Given the description of an element on the screen output the (x, y) to click on. 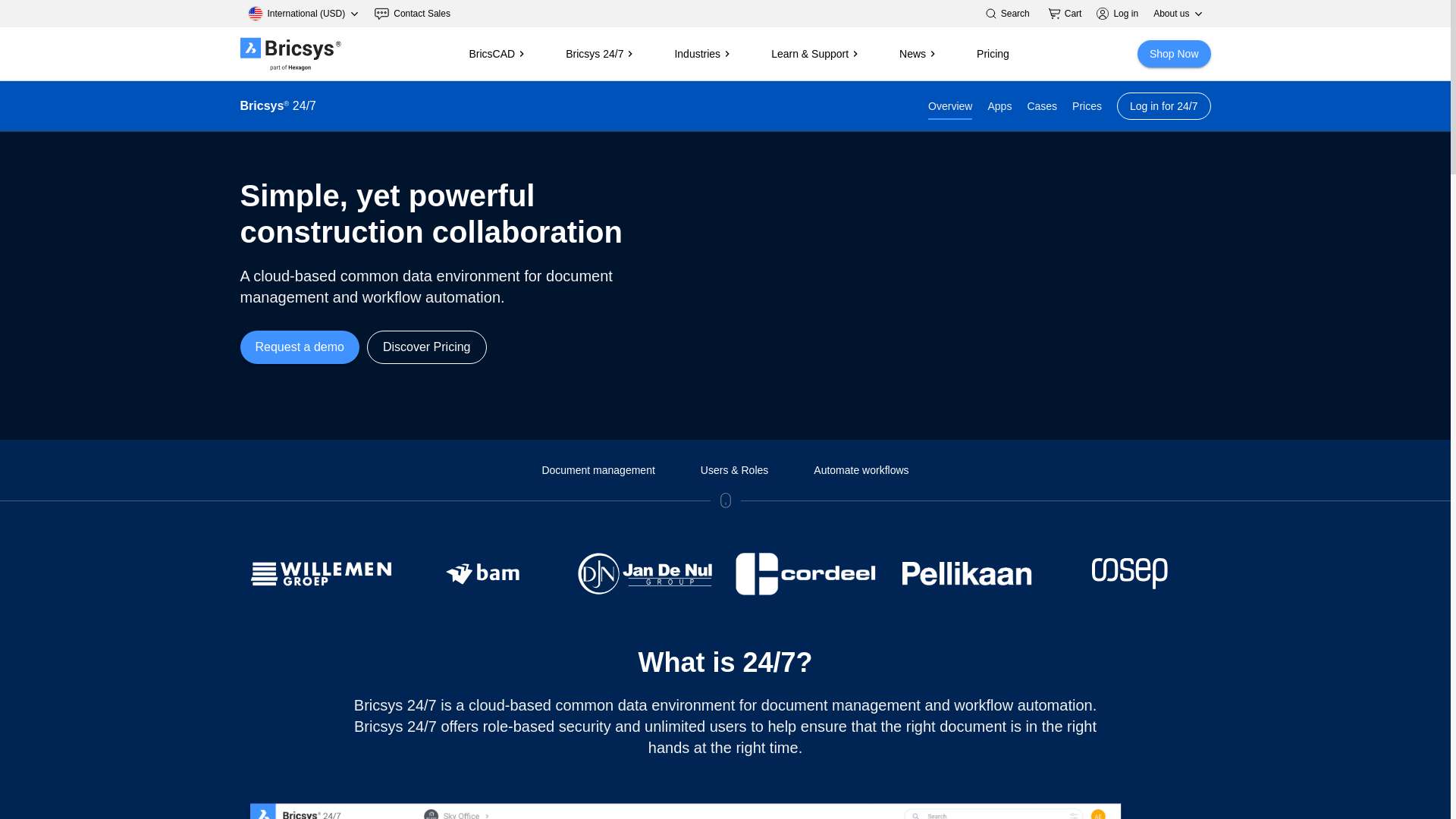
Contact Sales (412, 13)
Shop Now (1174, 53)
Pricing (992, 53)
Bricsys part of Hexagon logo (290, 53)
Log in (1125, 13)
COSEP logo white (1129, 572)
case-logo-pellikaan (968, 573)
case-logo-cordeel (805, 573)
case-logo-bam (481, 573)
About us (1177, 13)
